Given the description of an element on the screen output the (x, y) to click on. 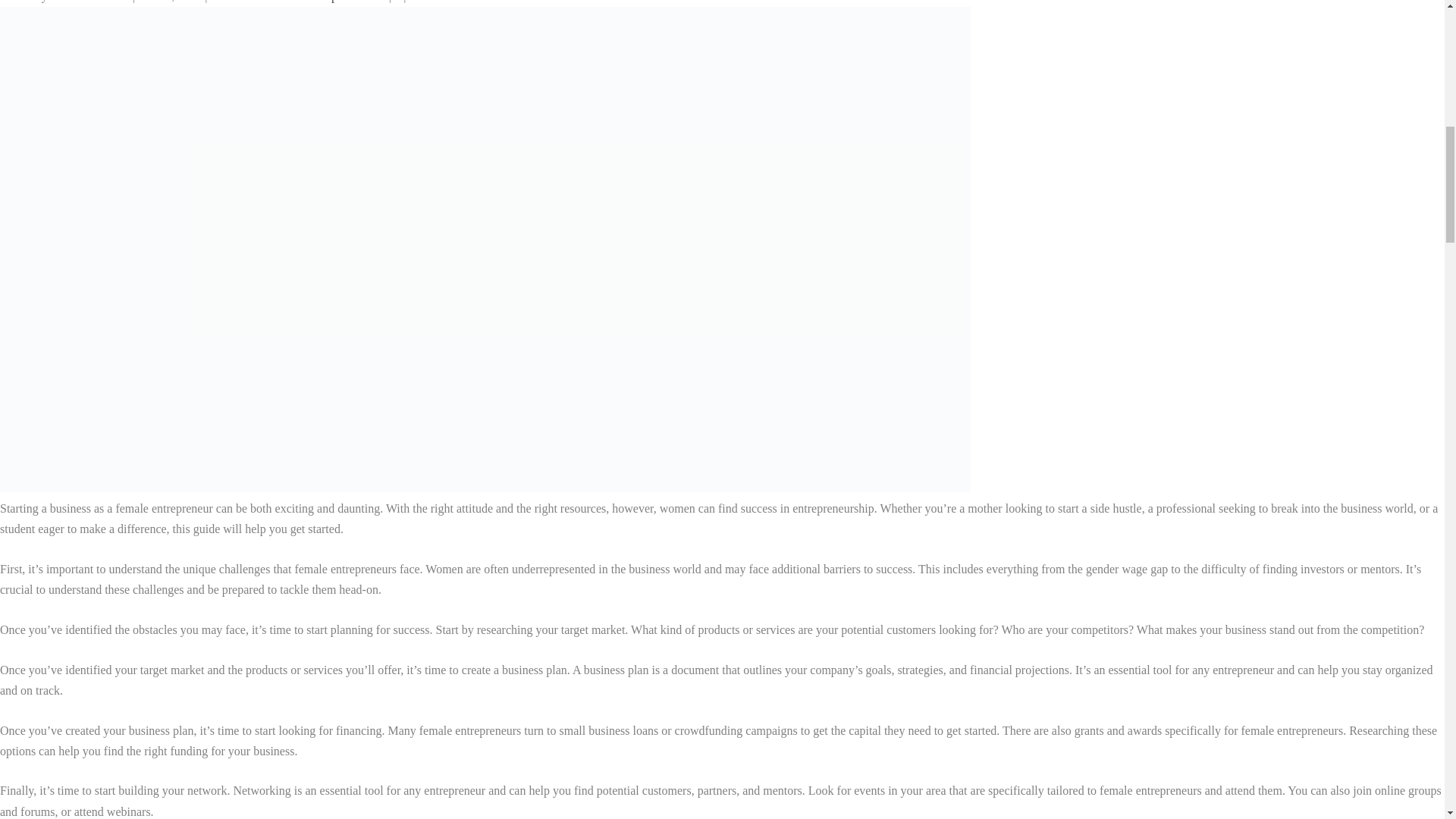
Lauren Peterson (89, 1)
Career and Financial Empowerment (297, 1)
Posts by Lauren Peterson (89, 1)
